Given the description of an element on the screen output the (x, y) to click on. 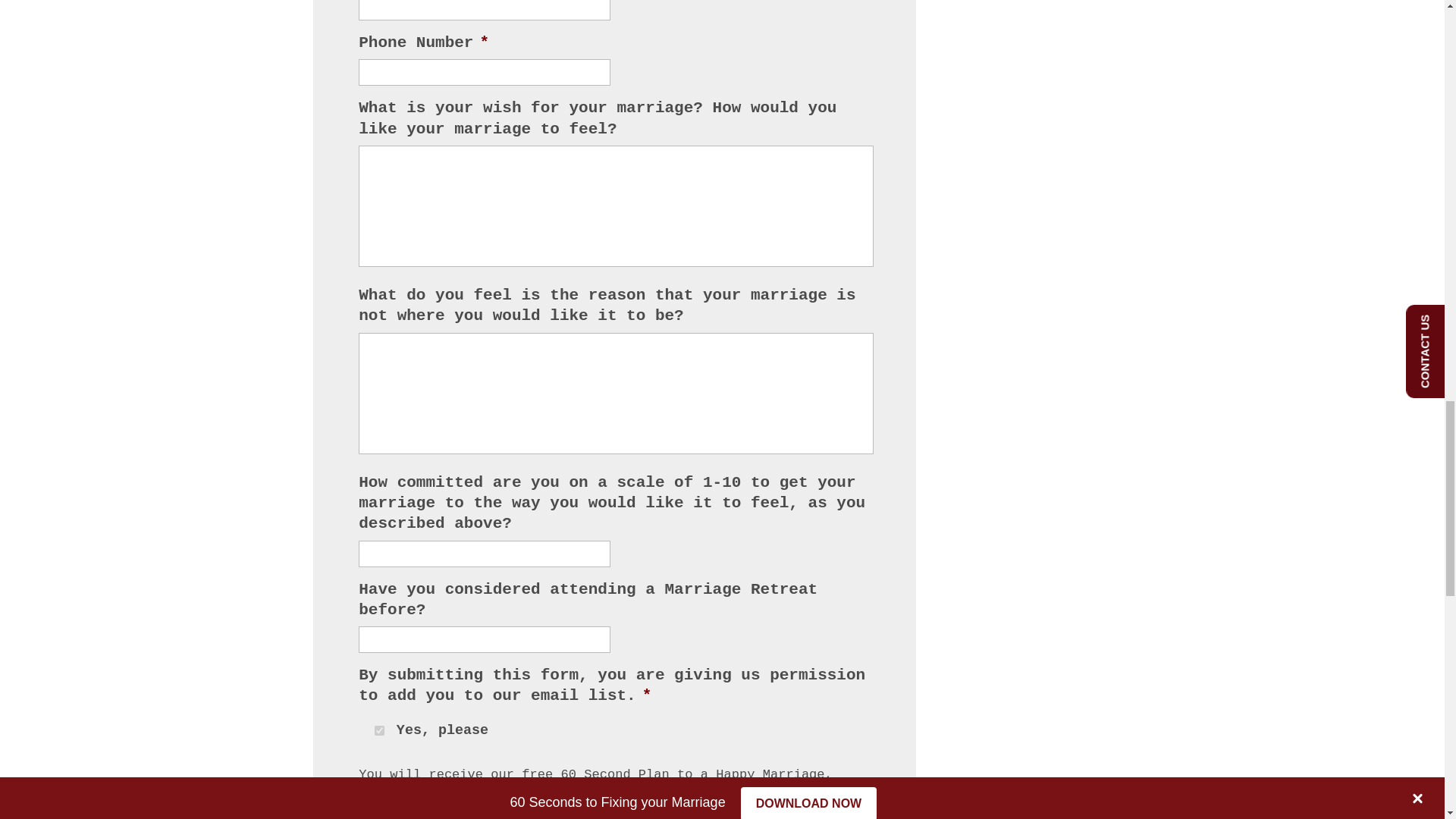
Yes, please (379, 730)
